Given the description of an element on the screen output the (x, y) to click on. 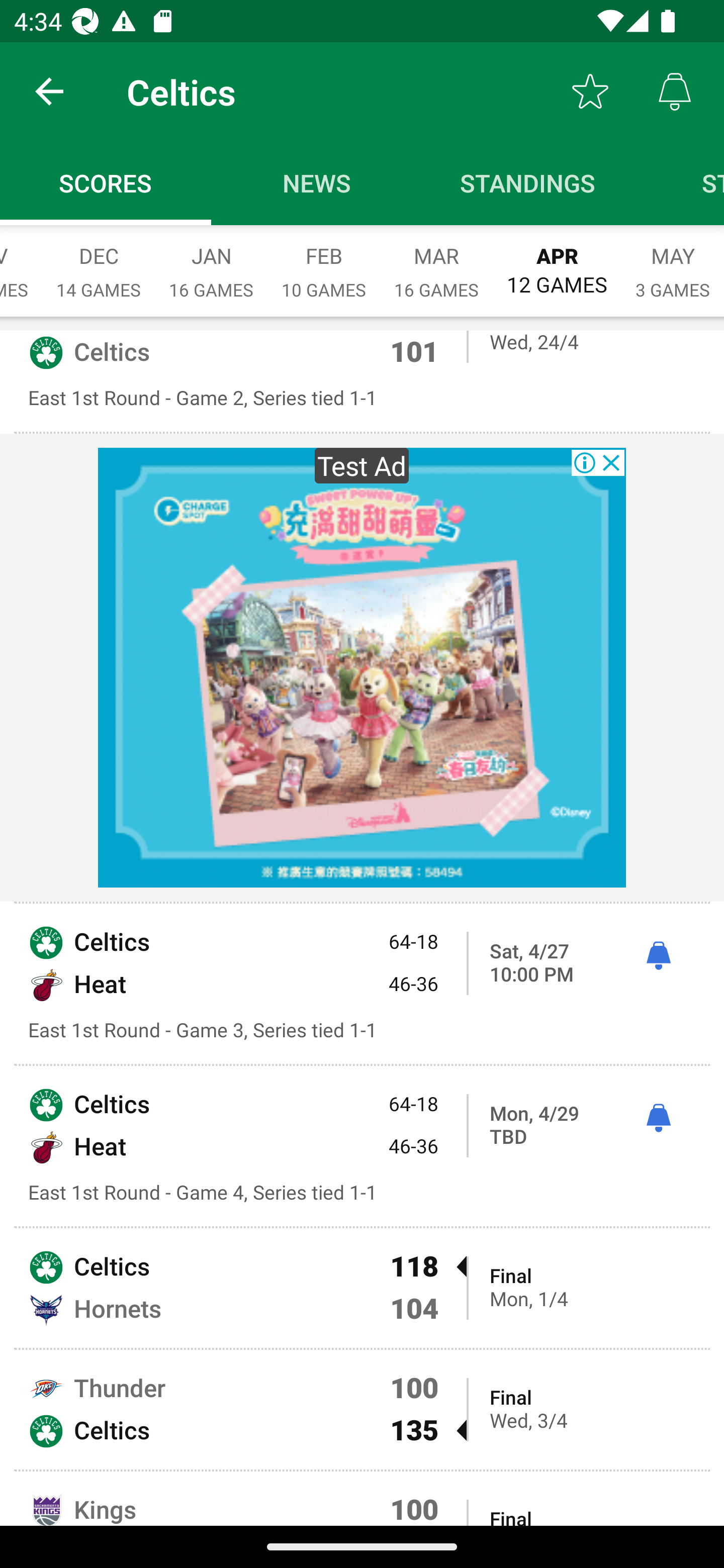
back.button (49, 90)
Favorite toggle (590, 90)
Alerts (674, 90)
News NEWS (316, 183)
Standings STANDINGS (527, 183)
DEC 14 GAMES (97, 262)
JAN 16 GAMES (210, 262)
FEB 10 GAMES (323, 262)
MAR 16 GAMES (436, 262)
APR 12 GAMES (557, 261)
MAY 3 GAMES (672, 262)
ì (658, 956)
ì (658, 1117)
Celtics 118  Hornets 104 Final Mon, 1/4 (362, 1287)
Thunder 100 Celtics 135  Final Wed, 3/4 (362, 1409)
